Given the description of an element on the screen output the (x, y) to click on. 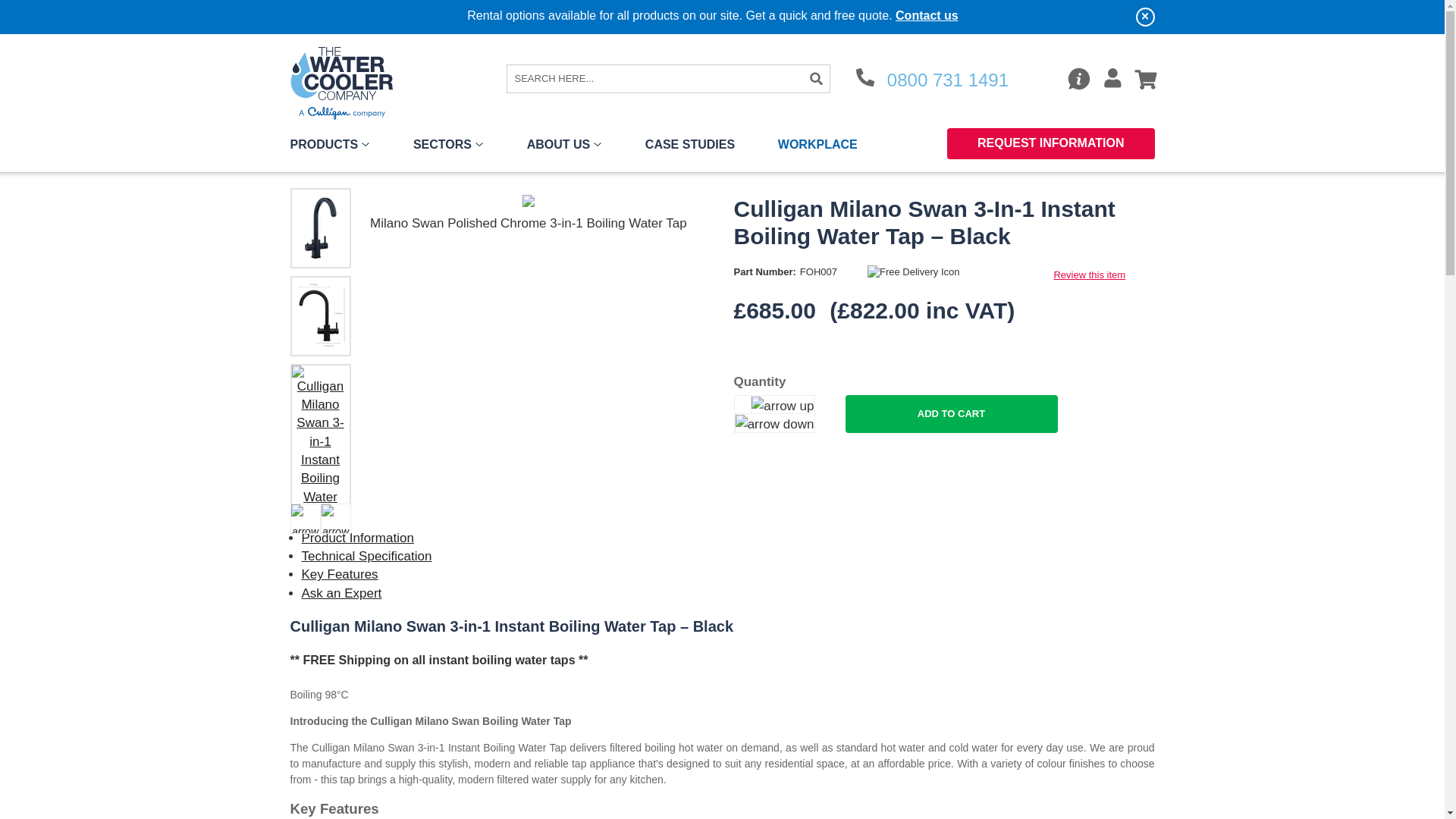
The Water Cooler Company (347, 81)
ABOUT US (564, 147)
Previous Image (304, 518)
Next Image (335, 518)
REQUEST INFORMATION (1050, 143)
SECTORS (448, 147)
WORKPLACE (817, 147)
0800 731 1491 (932, 80)
Contact us (926, 15)
home (347, 81)
